Given the description of an element on the screen output the (x, y) to click on. 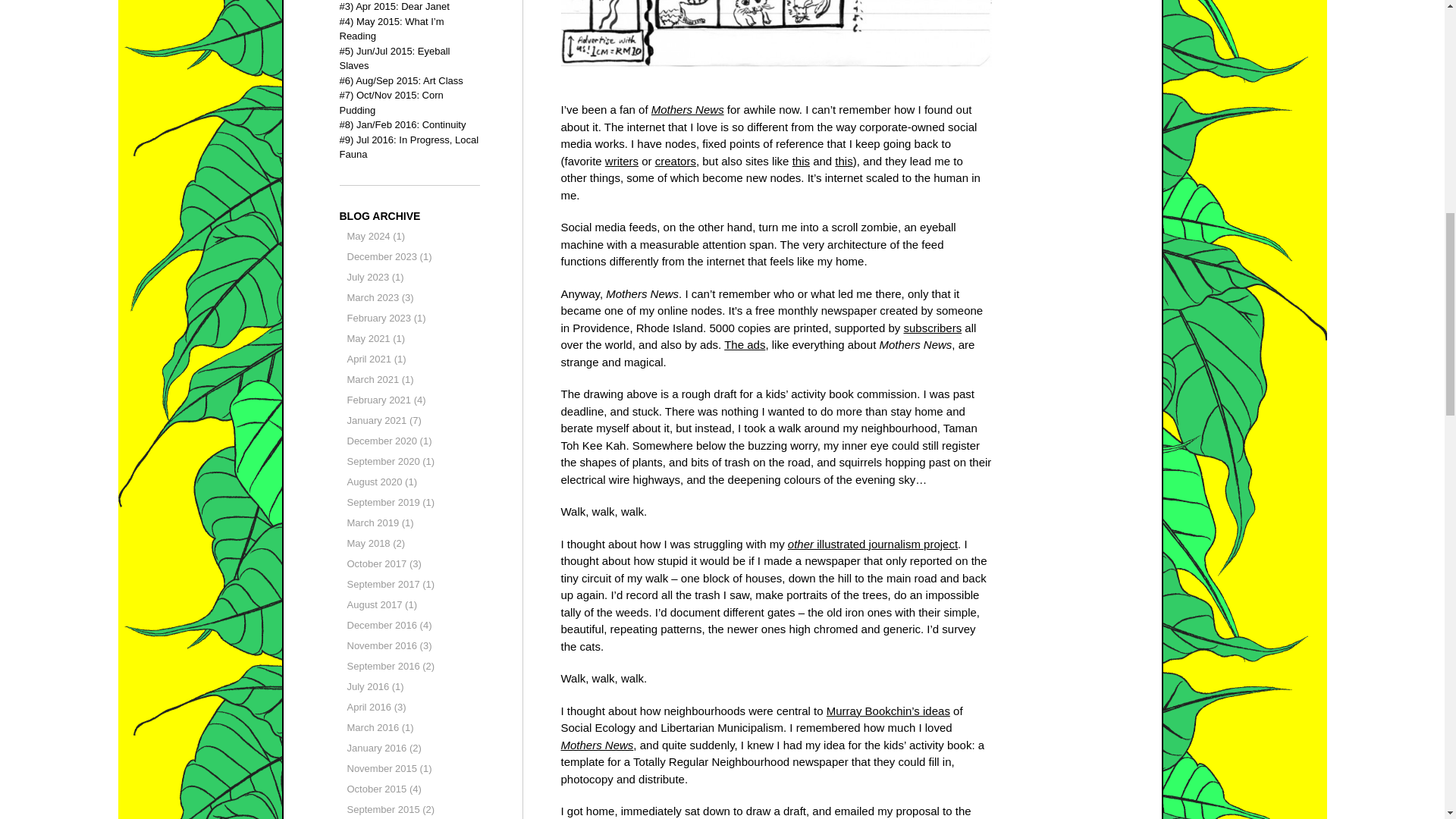
writers (622, 160)
The ads (744, 344)
this (842, 160)
this (800, 160)
other illustrated journalism project (872, 543)
creators (675, 160)
Mothers News (686, 109)
Mothers News (596, 744)
subscribers (931, 327)
